Given the description of an element on the screen output the (x, y) to click on. 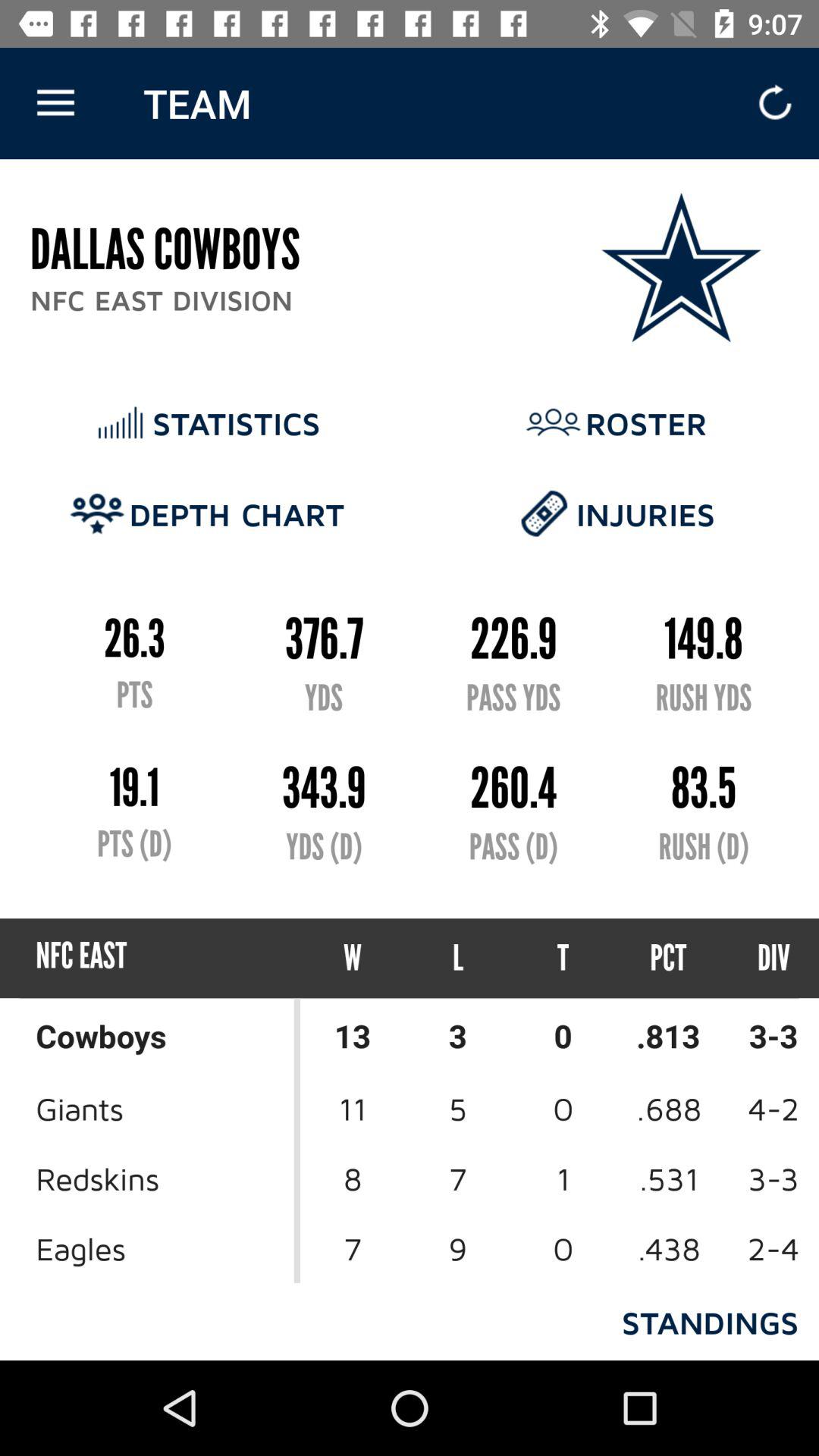
select the icon below rush (d) (760, 958)
